Given the description of an element on the screen output the (x, y) to click on. 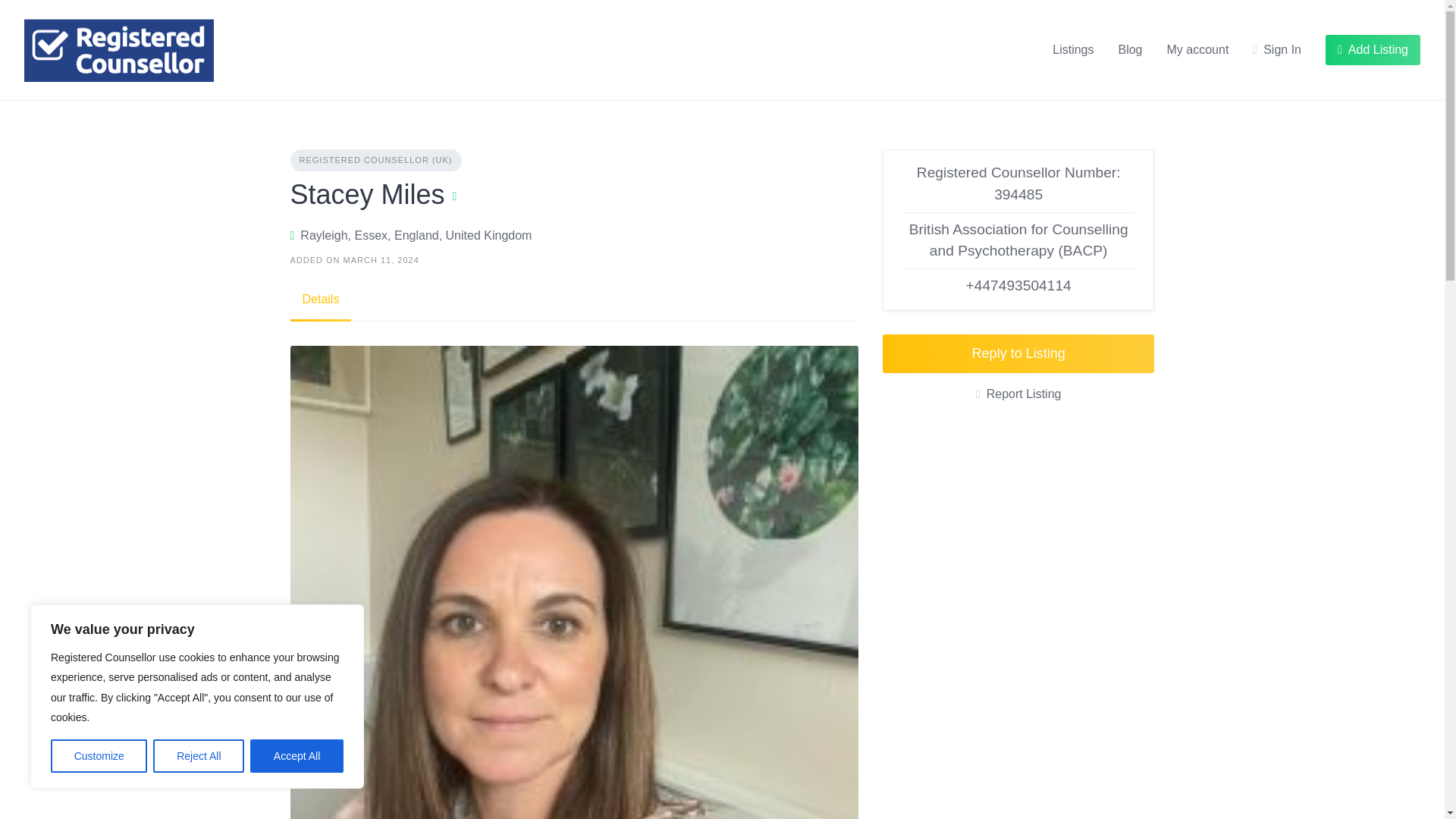
Add Listing (1372, 50)
Details (320, 299)
My account (1197, 49)
Report Listing (1018, 393)
Sign In (1276, 49)
Listings (1072, 49)
Reply to Listing (1018, 353)
Customize (98, 756)
Blog (1129, 49)
Accept All (296, 756)
Reject All (198, 756)
